Given the description of an element on the screen output the (x, y) to click on. 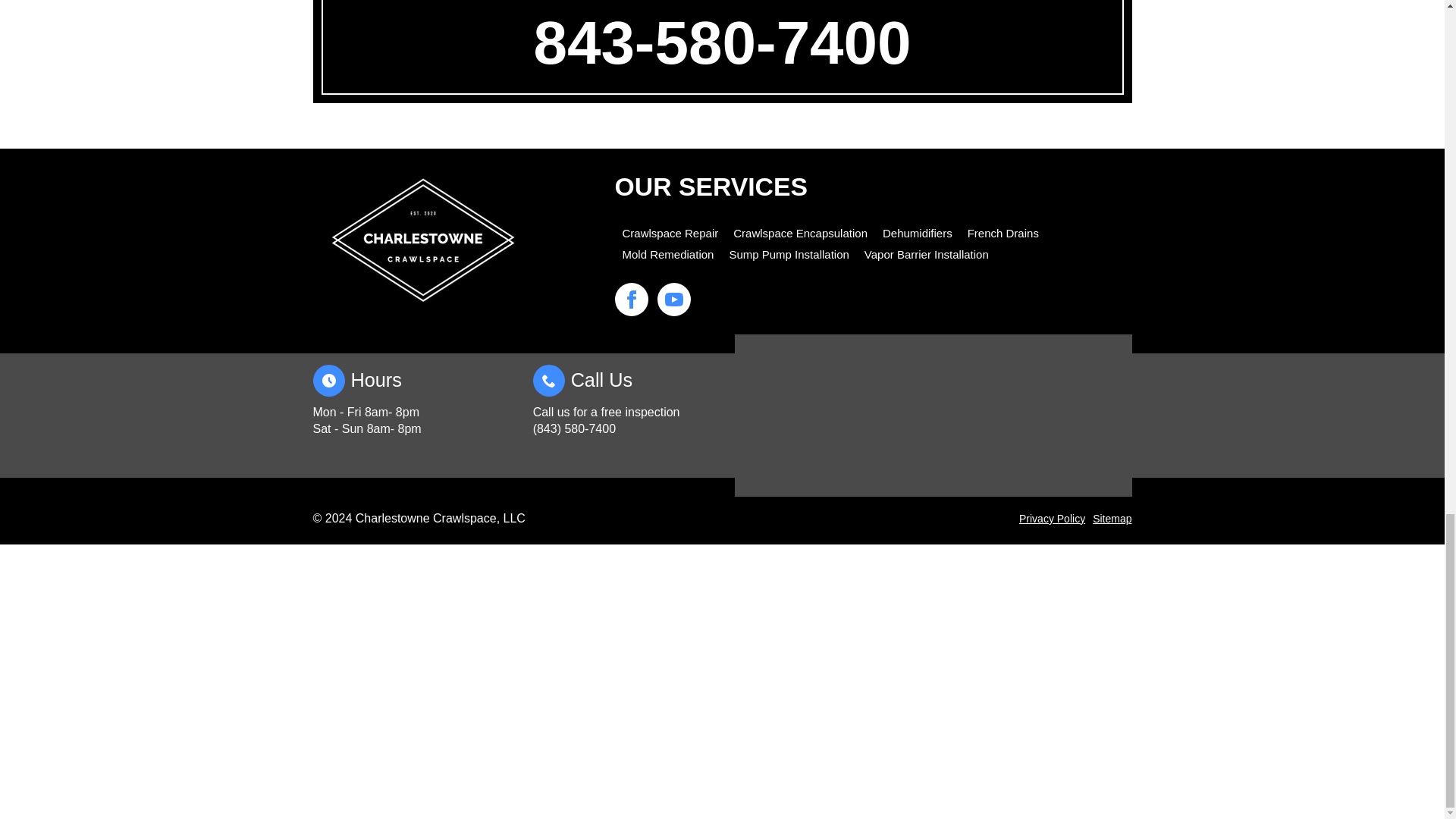
Privacy Policy (1051, 518)
Crawlspace Repair (669, 232)
French Drains (1003, 232)
Sump Pump Installation (788, 254)
Vapor Barrier Installation (926, 254)
Crawlspace Encapsulation (800, 232)
Mold Remediation (667, 254)
843-580-7400 (721, 42)
Sitemap (1112, 518)
Dehumidifiers (917, 232)
Google Map of Charlestowne Crawlspace, LLC (932, 415)
